Given the description of an element on the screen output the (x, y) to click on. 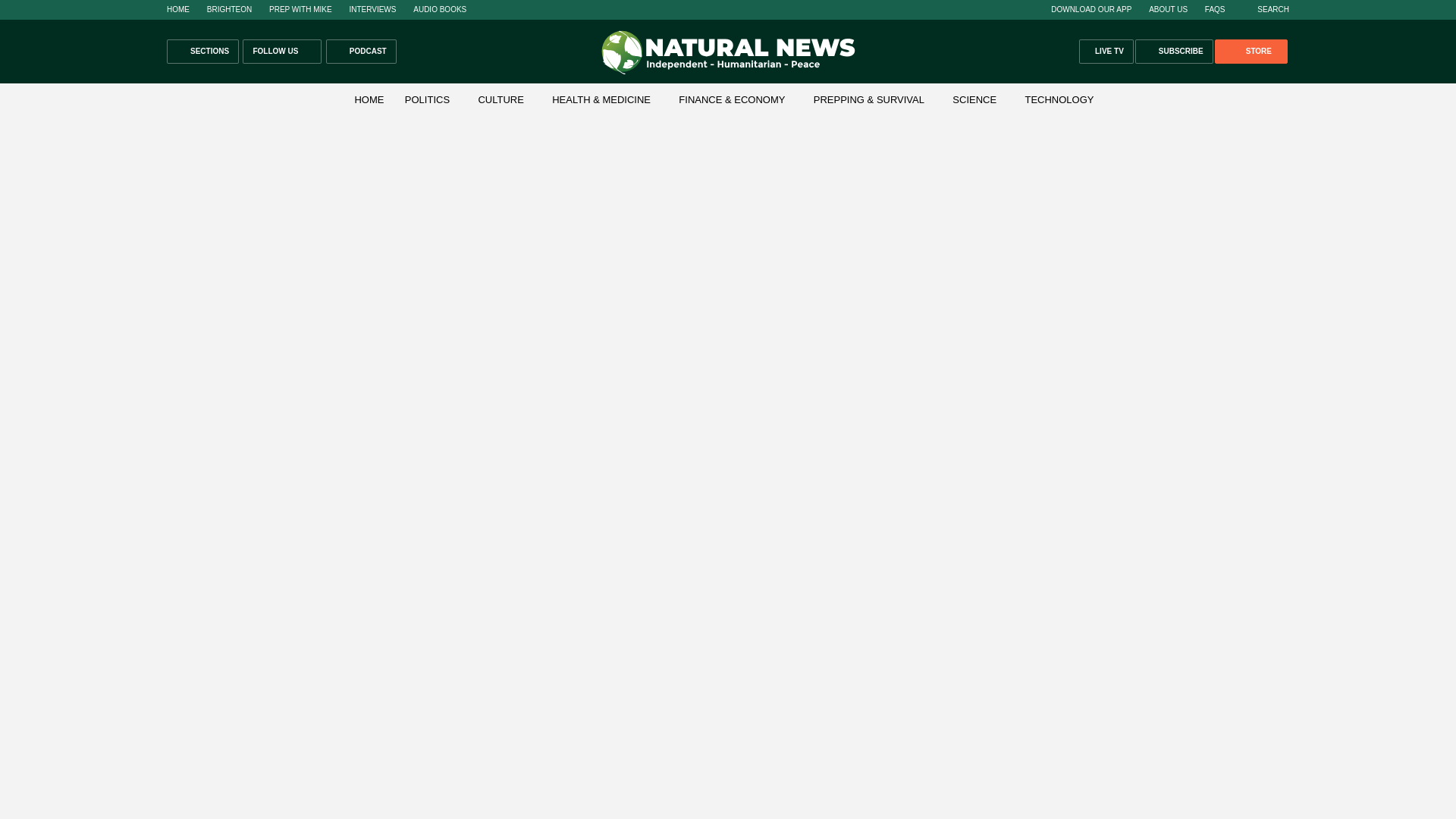
CULTURE (500, 99)
AUDIO BOOKS (439, 8)
HOME (369, 99)
STORE (1250, 51)
SUBSCRIBE (1173, 51)
BRIGHTEON (228, 8)
TECHNOLOGY (1058, 99)
FAQS (1215, 8)
LIVE TV (1106, 51)
POLITICS (427, 99)
SCIENCE (974, 99)
PREP WITH MIKE (300, 8)
PODCAST (361, 51)
INTERVIEWS (372, 8)
DOWNLOAD OUR APP (1091, 8)
